Given the description of an element on the screen output the (x, y) to click on. 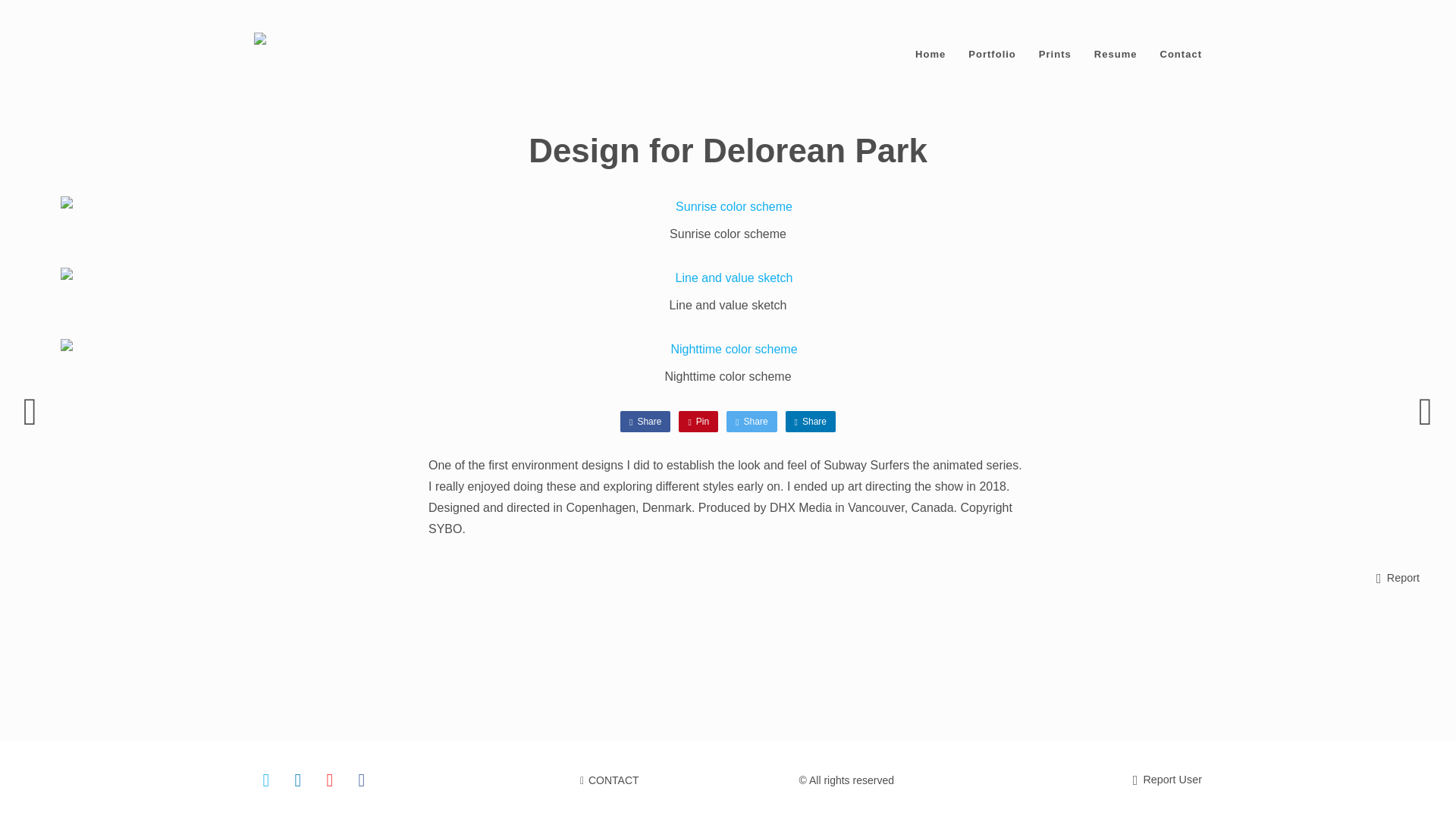
Resume (1115, 53)
Share (644, 421)
Prints (1055, 53)
Contact (1180, 53)
Home (929, 53)
Share (751, 421)
Portfolio (992, 53)
CONTACT (609, 779)
Share (810, 421)
Report (1397, 577)
